Given the description of an element on the screen output the (x, y) to click on. 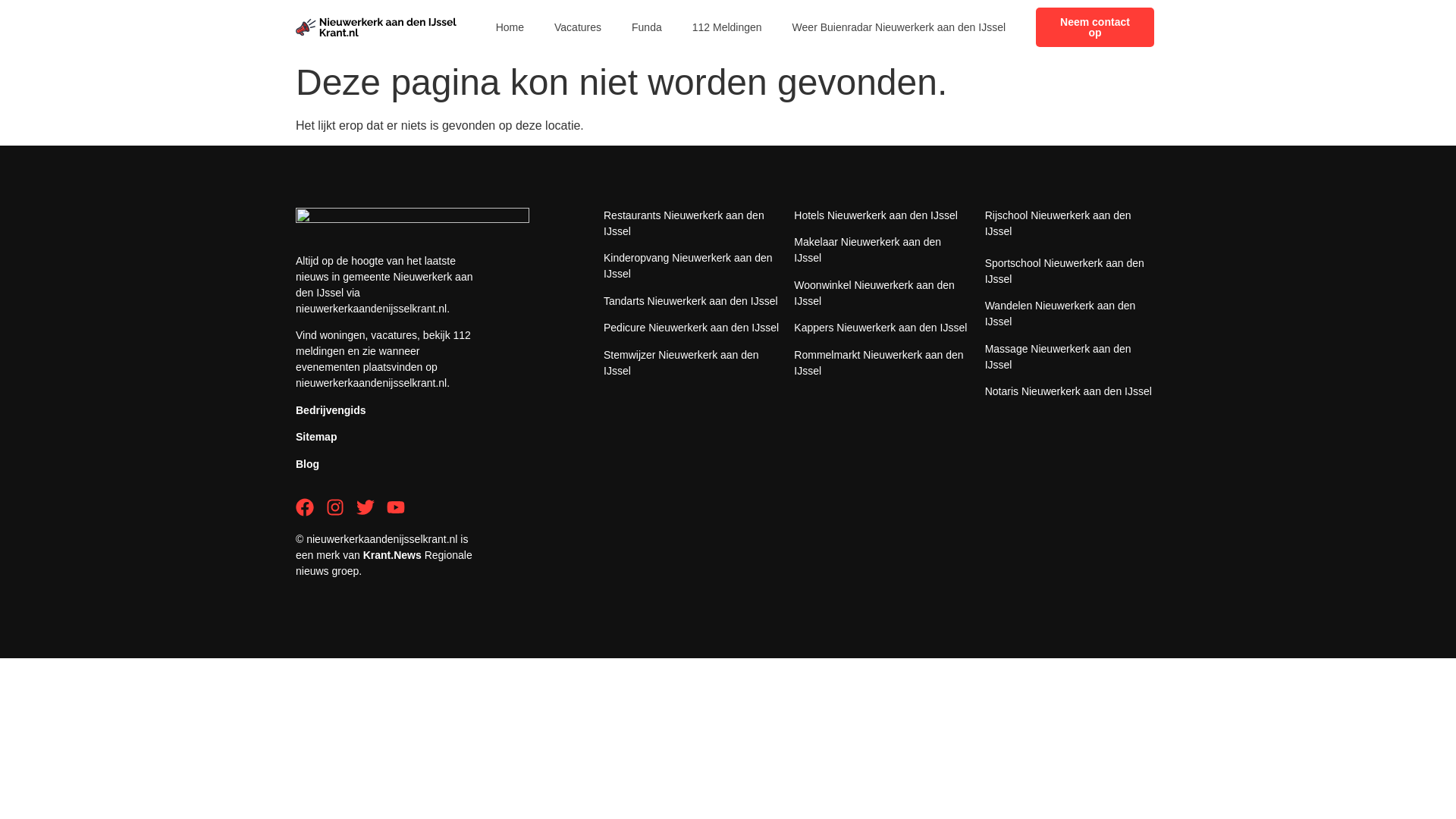
Restaurants Nieuwerkerk aan den IJssel (684, 223)
Blog (306, 463)
Stemwijzer Nieuwerkerk aan den IJssel (681, 362)
Wandelen Nieuwerkerk aan den IJssel (1060, 313)
Rommelmarkt Nieuwerkerk aan den IJssel (877, 362)
Tandarts Nieuwerkerk aan den IJssel (690, 300)
Woonwinkel Nieuwerkerk aan den IJssel (873, 293)
Massage Nieuwerkerk aan den IJssel (1058, 357)
Sitemap (315, 436)
Hotels Nieuwerkerk aan den IJssel (875, 215)
